Given the description of an element on the screen output the (x, y) to click on. 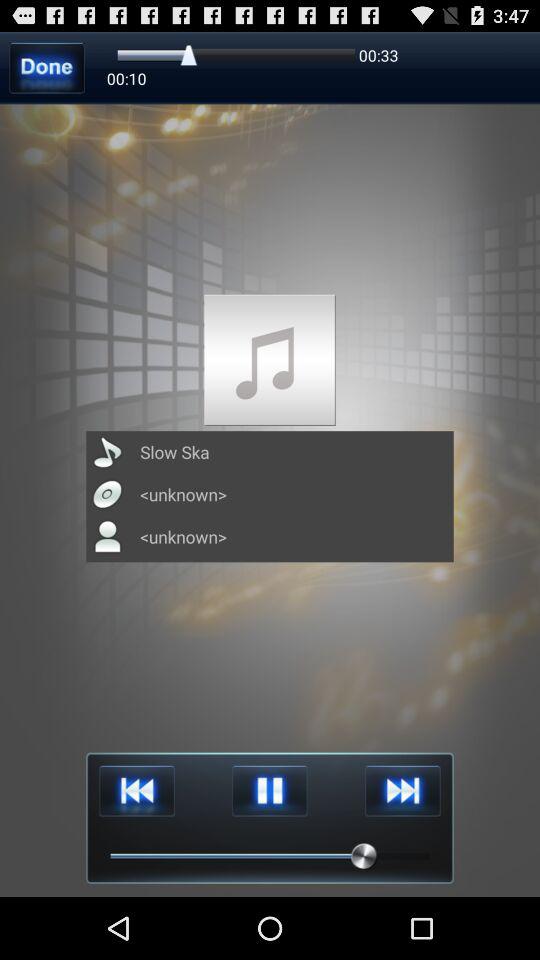
skip to next song (402, 790)
